Given the description of an element on the screen output the (x, y) to click on. 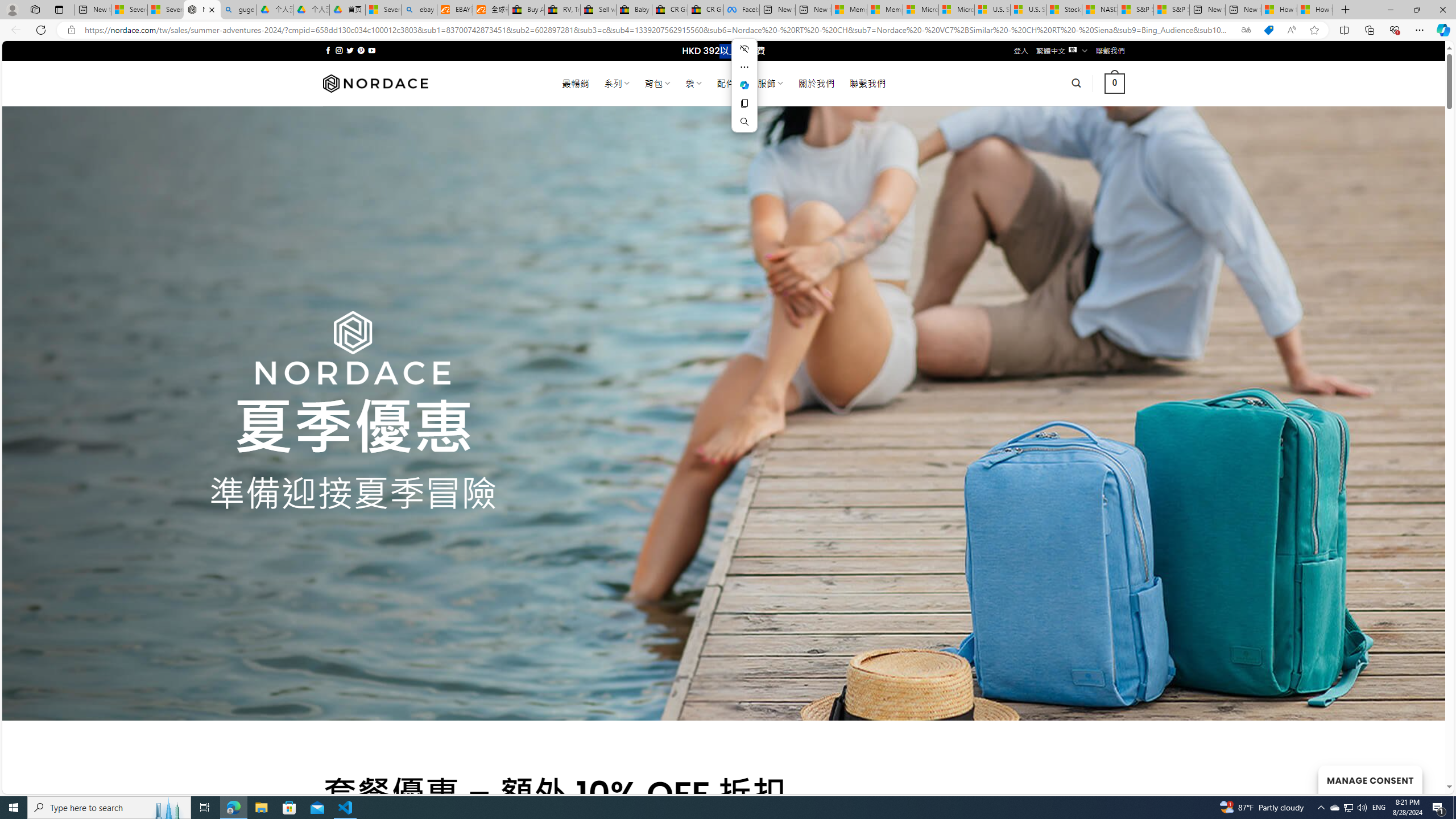
Show translate options (1245, 29)
  0   (1115, 83)
Buy Auto Parts & Accessories | eBay (525, 9)
